Given the description of an element on the screen output the (x, y) to click on. 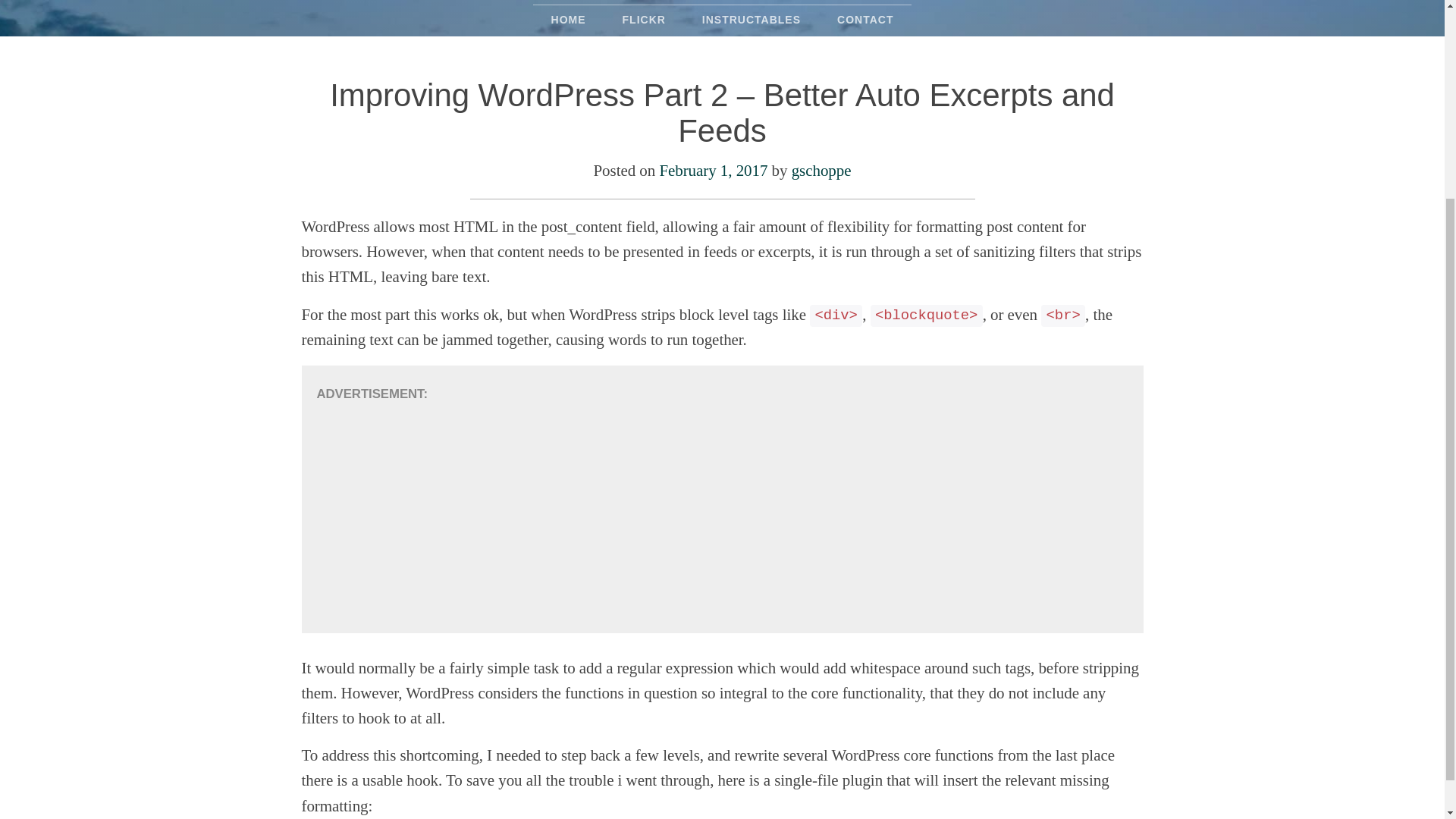
CONTACT (864, 19)
HOME (568, 19)
1:55 pm (713, 170)
gschoppe (821, 170)
View all posts by gschoppe (821, 170)
INSTRUCTABLES (751, 19)
FLICKR (644, 19)
February 1, 2017 (713, 170)
